Given the description of an element on the screen output the (x, y) to click on. 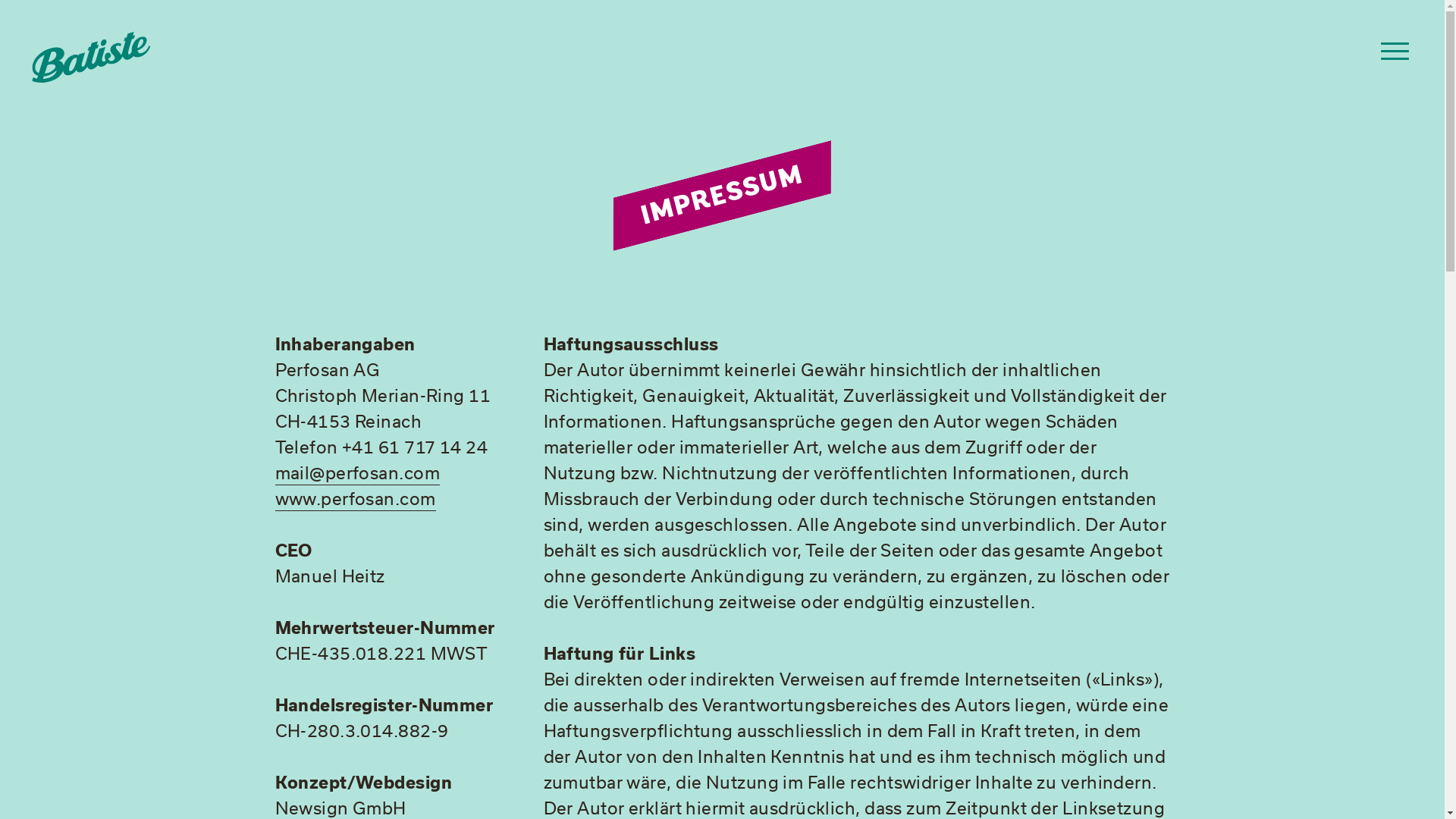
www.perfosan.com Element type: text (354, 498)
mail@perfosan.com Element type: text (356, 472)
